Given the description of an element on the screen output the (x, y) to click on. 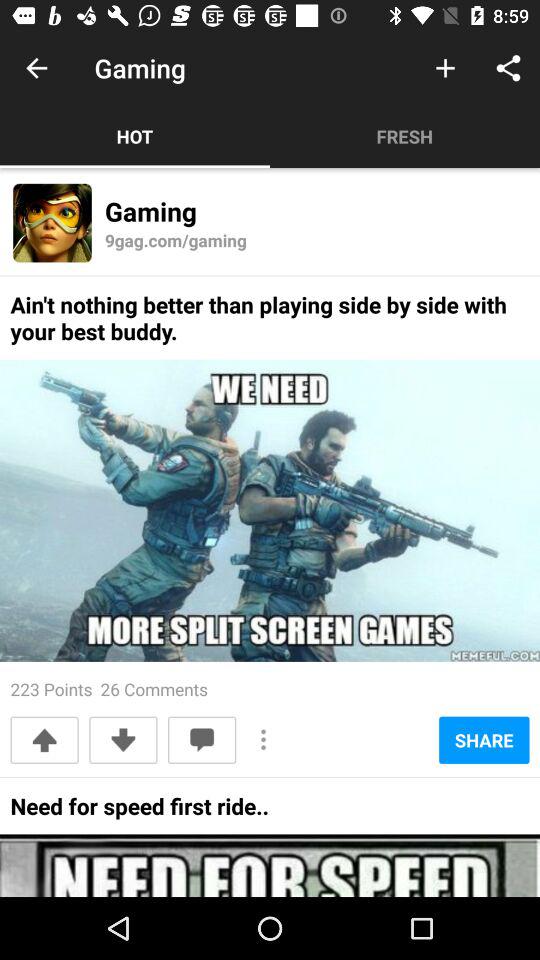
jump until the need for speed icon (139, 812)
